Given the description of an element on the screen output the (x, y) to click on. 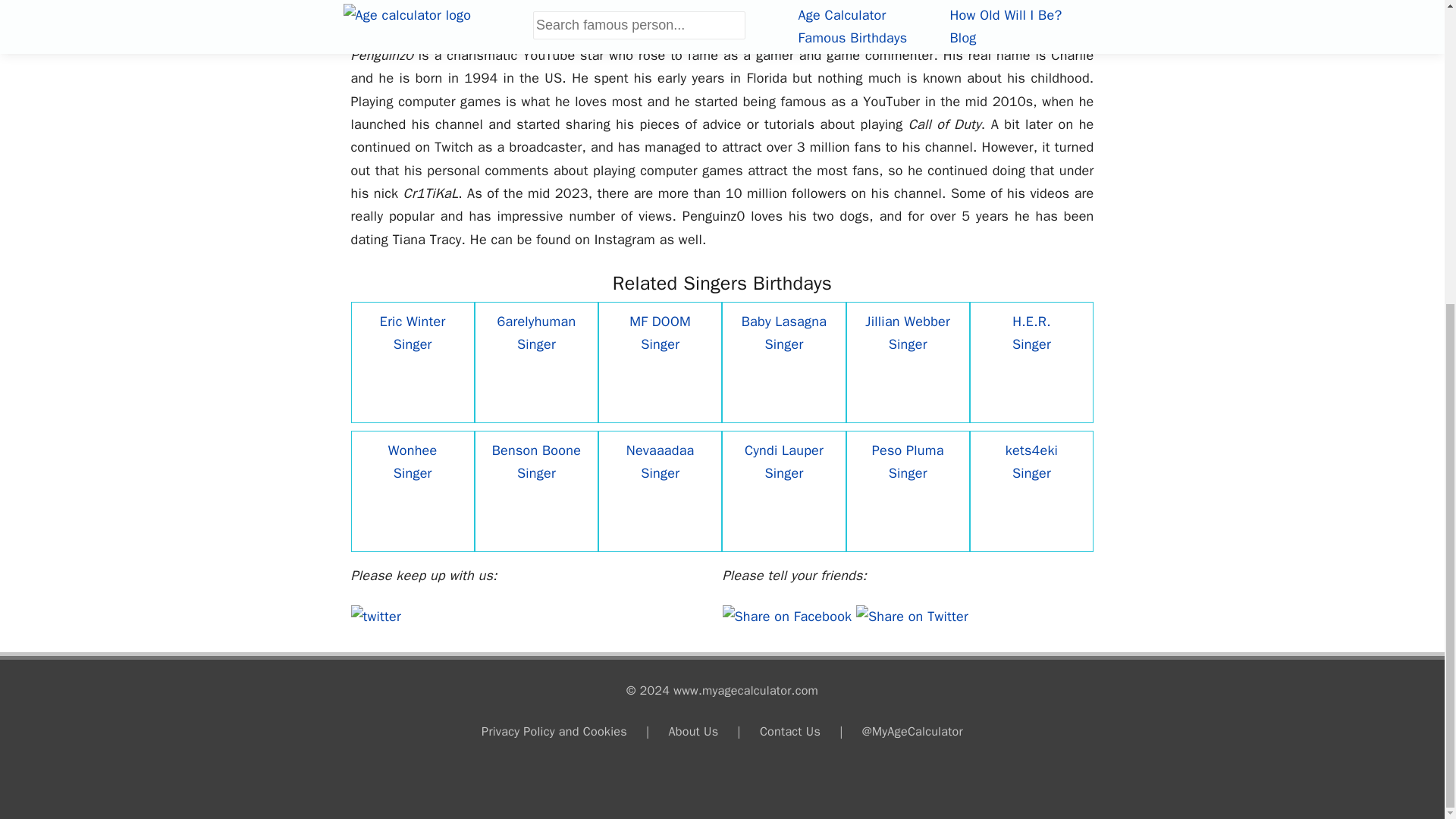
Contact Us (790, 731)
Privacy Policy and Cookies (554, 731)
My Age Calculator Twitter (375, 616)
About Us (692, 731)
